Given the description of an element on the screen output the (x, y) to click on. 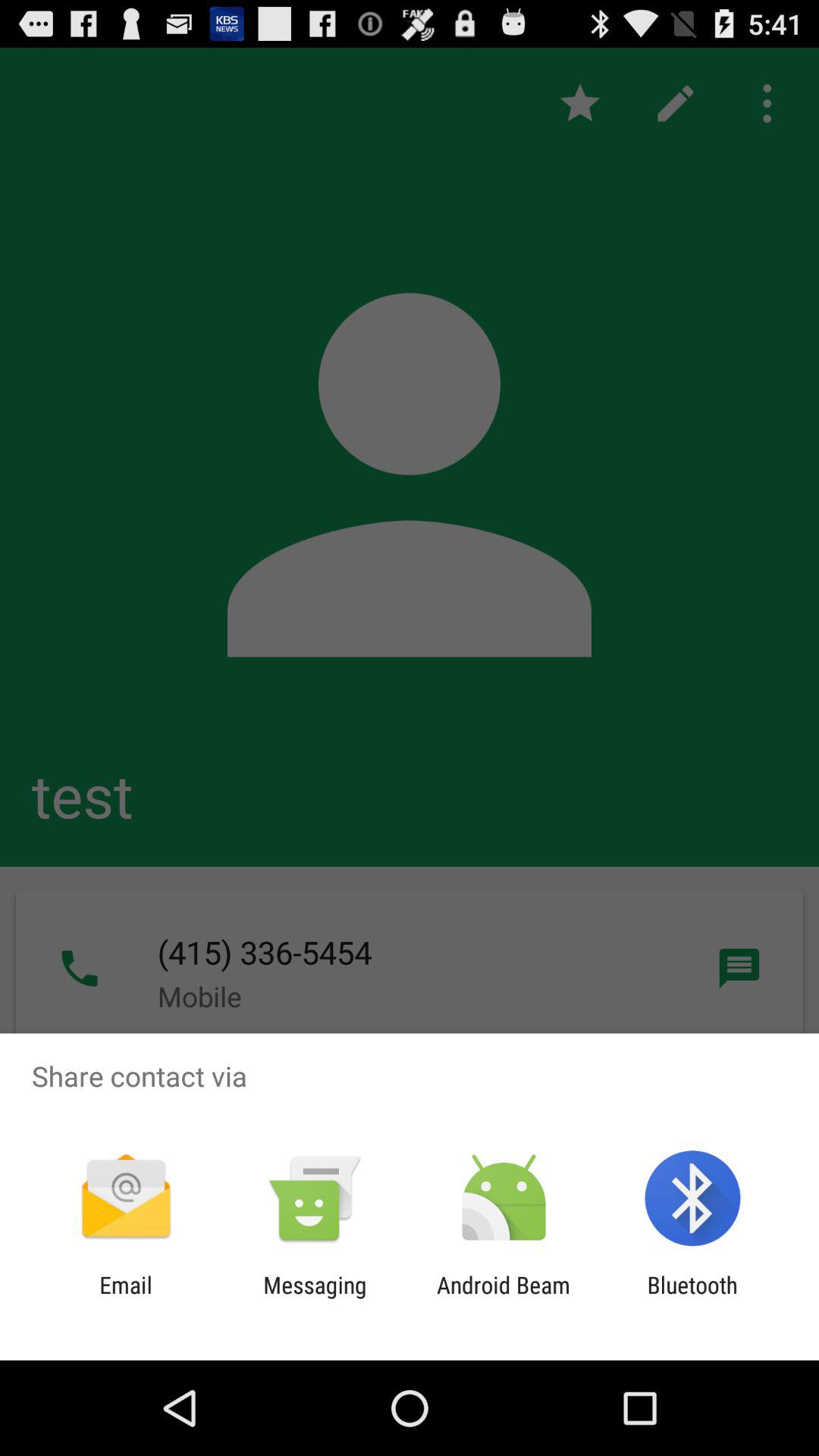
flip to email icon (125, 1298)
